Given the description of an element on the screen output the (x, y) to click on. 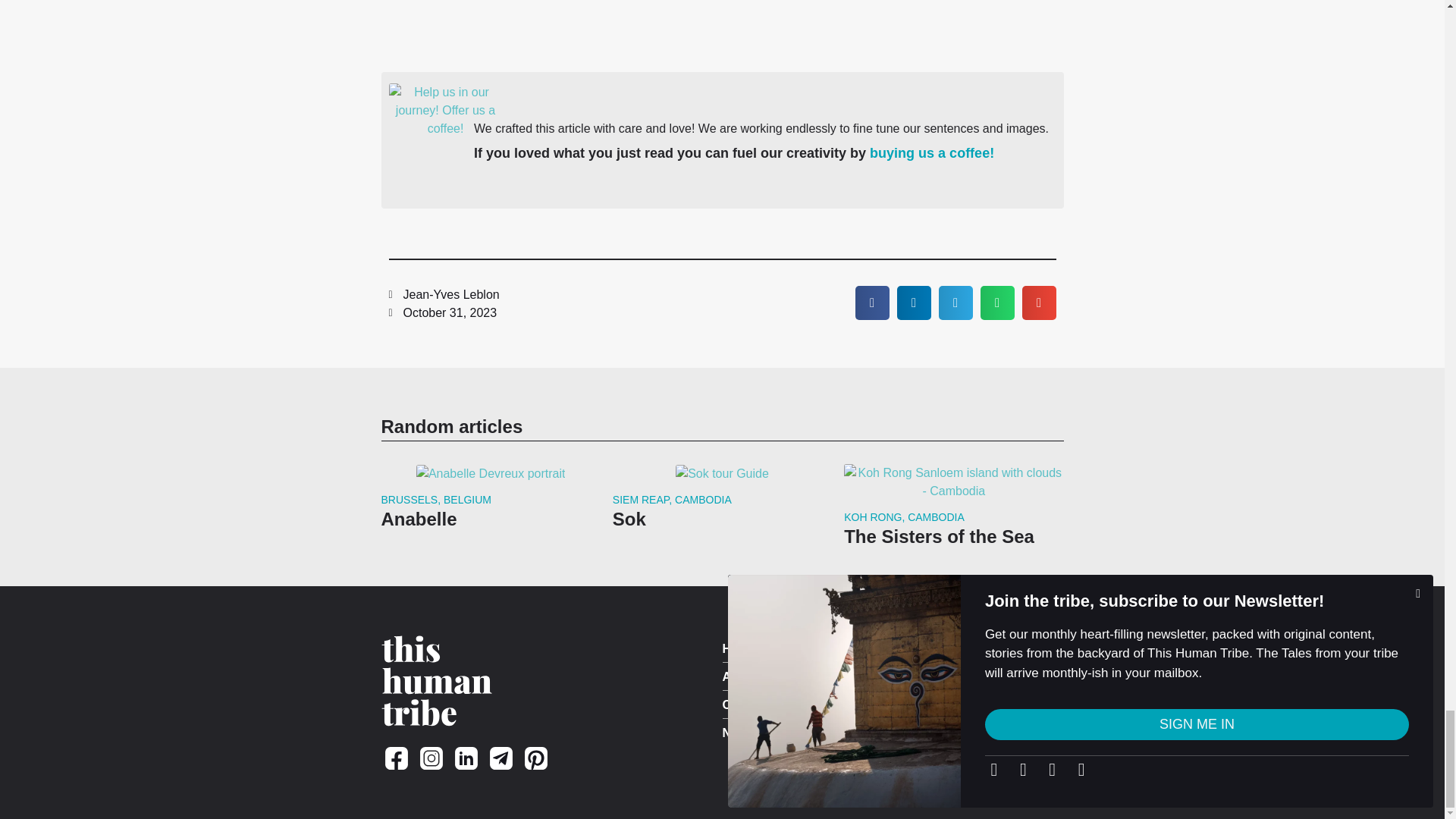
Anabelle Devreux portrait (491, 474)
buying us a coffee! (931, 152)
Sok tour Guide (721, 474)
October 31, 2023 (442, 312)
THT-Article-KohRongs (953, 482)
Anabelle (418, 518)
The Sisters of the Sea (938, 536)
Sok (629, 518)
Jean-Yves Leblon (443, 294)
